Given the description of an element on the screen output the (x, y) to click on. 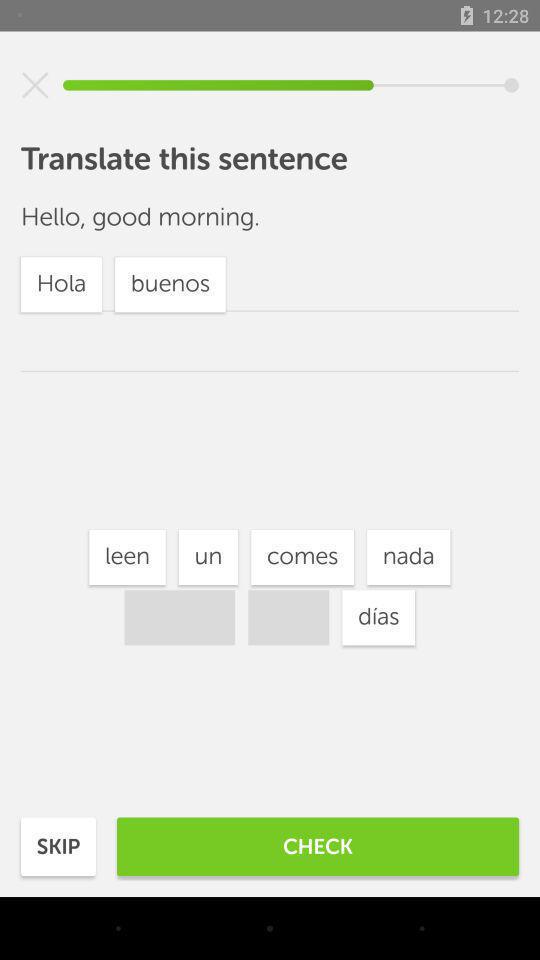
open icon above the buenos (208, 557)
